Given the description of an element on the screen output the (x, y) to click on. 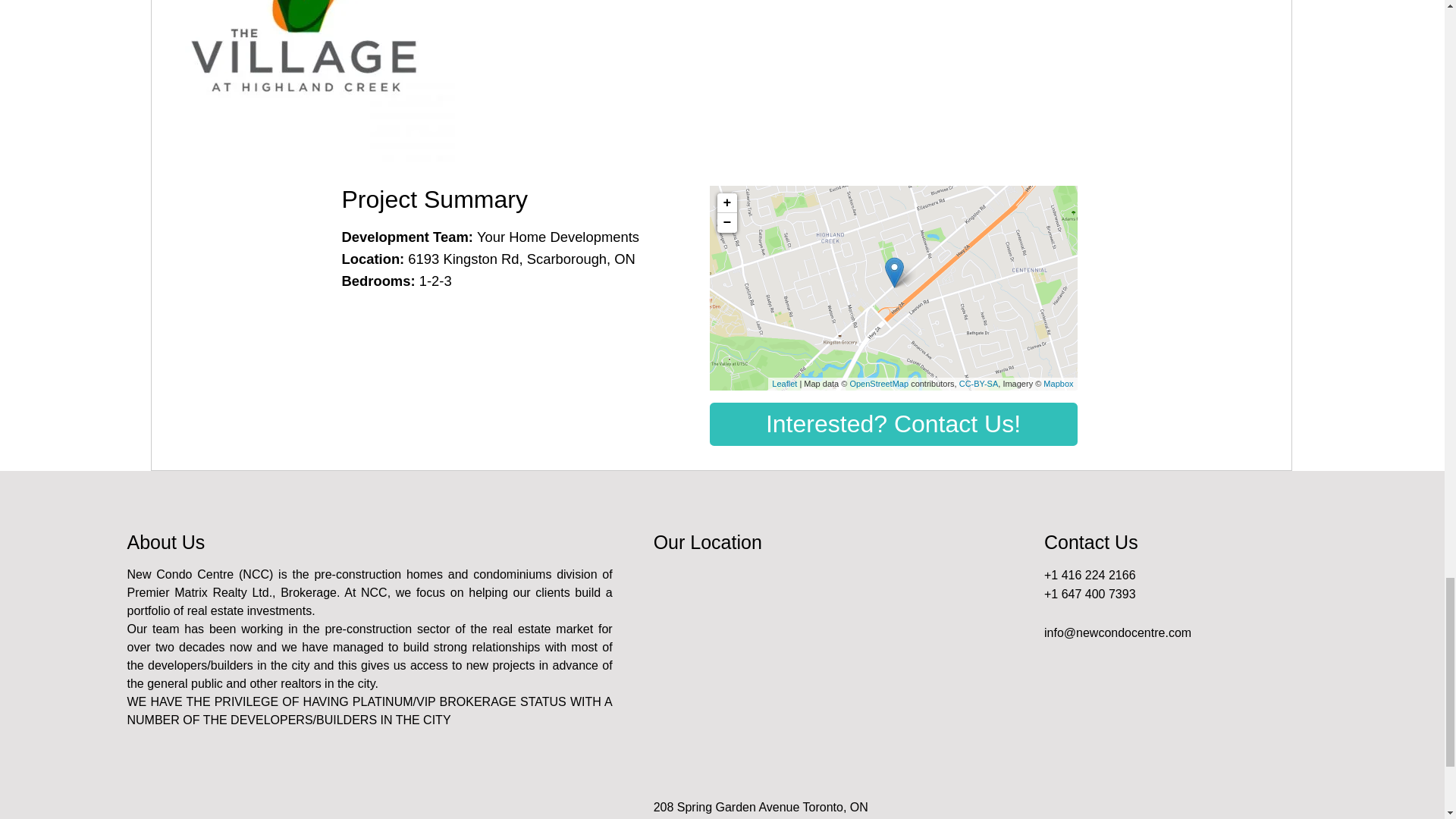
Mapbox (1058, 383)
Interested? Contact Us! (893, 423)
Zoom in (726, 202)
OpenStreetMap (878, 383)
Zoom out (726, 222)
A JS library for interactive maps (783, 383)
Leaflet (783, 383)
CC-BY-SA (978, 383)
